Given the description of an element on the screen output the (x, y) to click on. 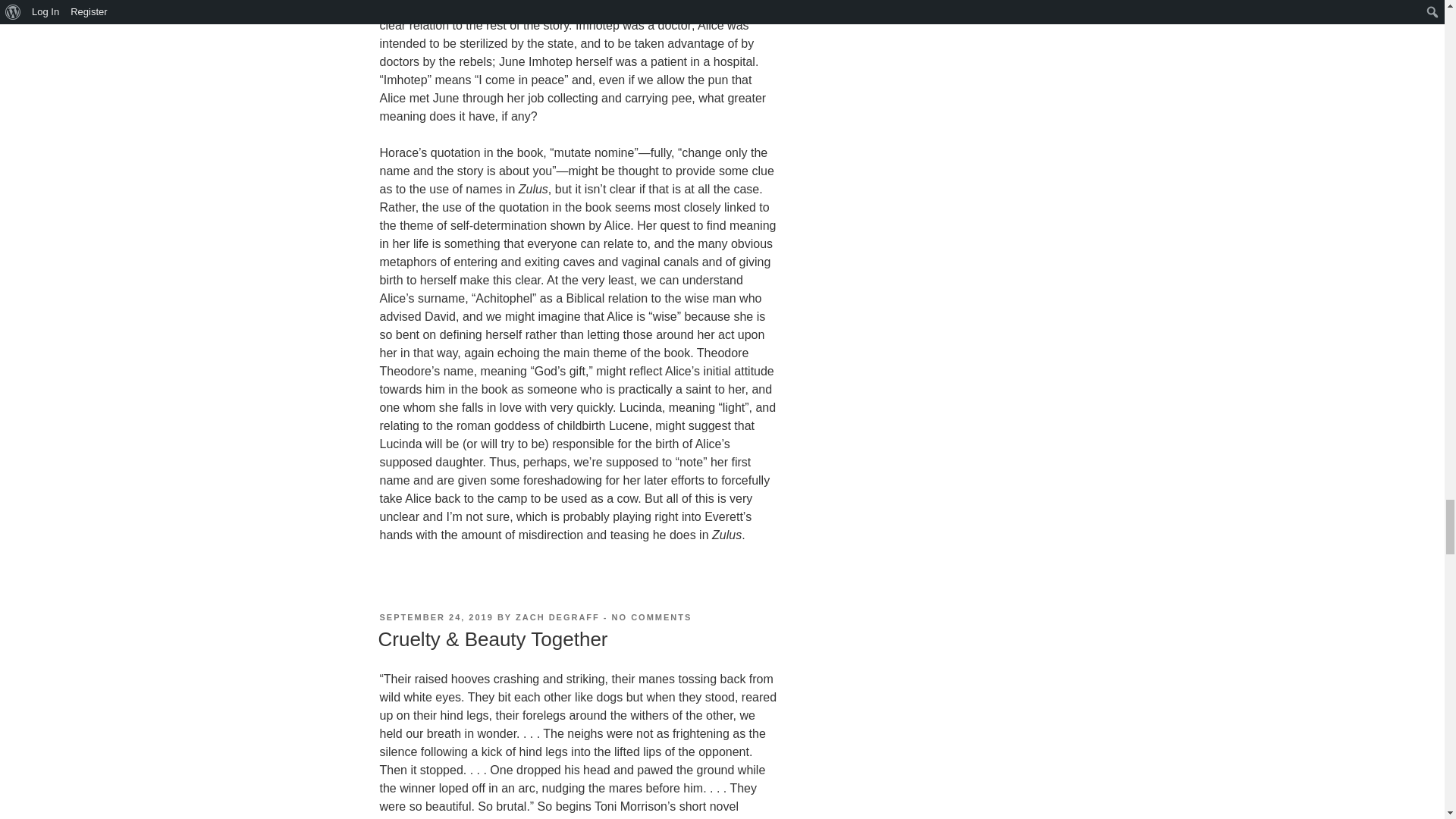
ZACH DEGRAFF (557, 616)
SEPTEMBER 24, 2019 (435, 616)
